Given the description of an element on the screen output the (x, y) to click on. 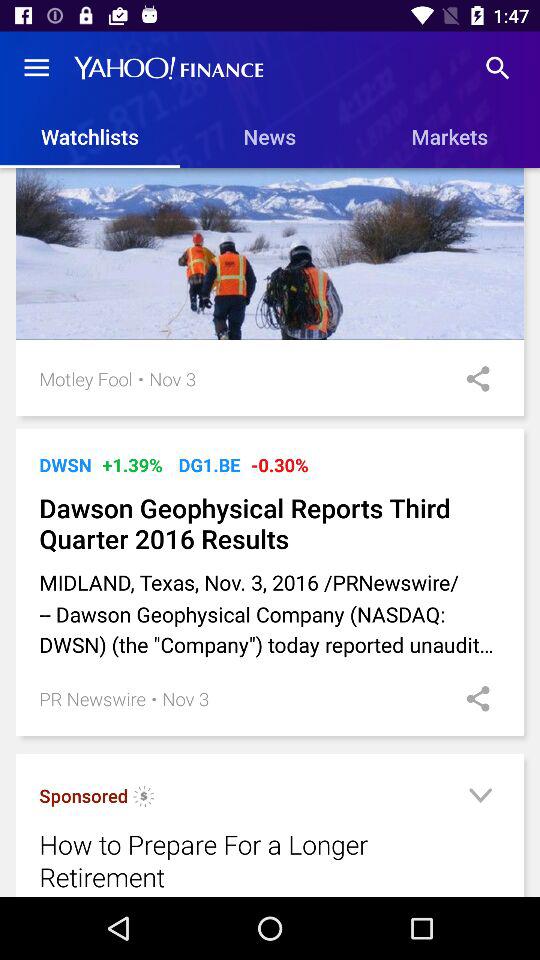
launch sponsored (83, 795)
